Given the description of an element on the screen output the (x, y) to click on. 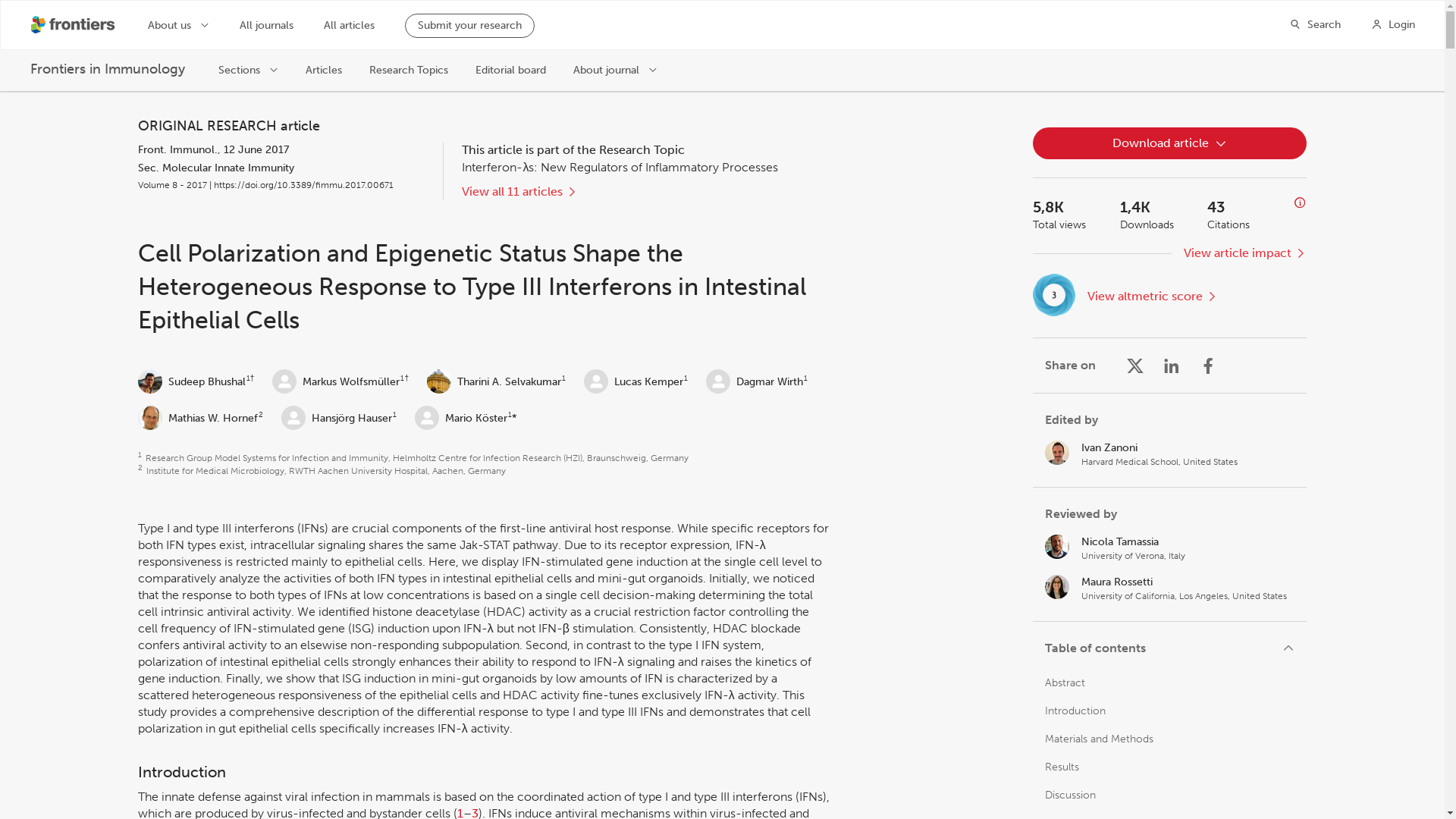
Submit your research (469, 25)
All articles (348, 25)
Login (1393, 24)
Search (1314, 24)
About us (178, 24)
All journals (267, 25)
Share on Facebook (1207, 365)
Share on X (1134, 365)
Share on Linkedin (1170, 365)
